Given the description of an element on the screen output the (x, y) to click on. 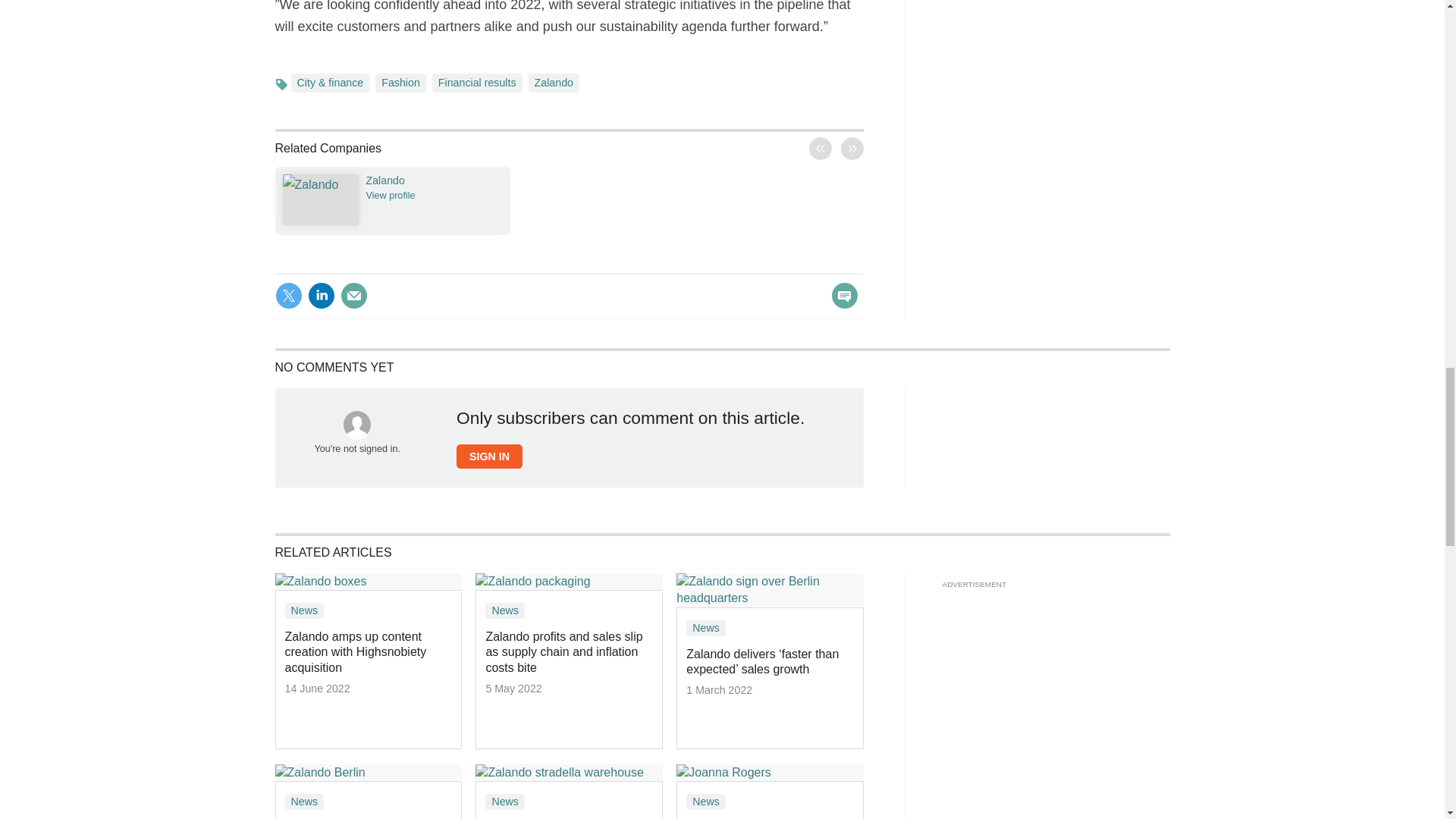
No comments (840, 304)
Share this on Twitter (288, 295)
Share this on Linked in (320, 295)
Email this article (826, 149)
